Given the description of an element on the screen output the (x, y) to click on. 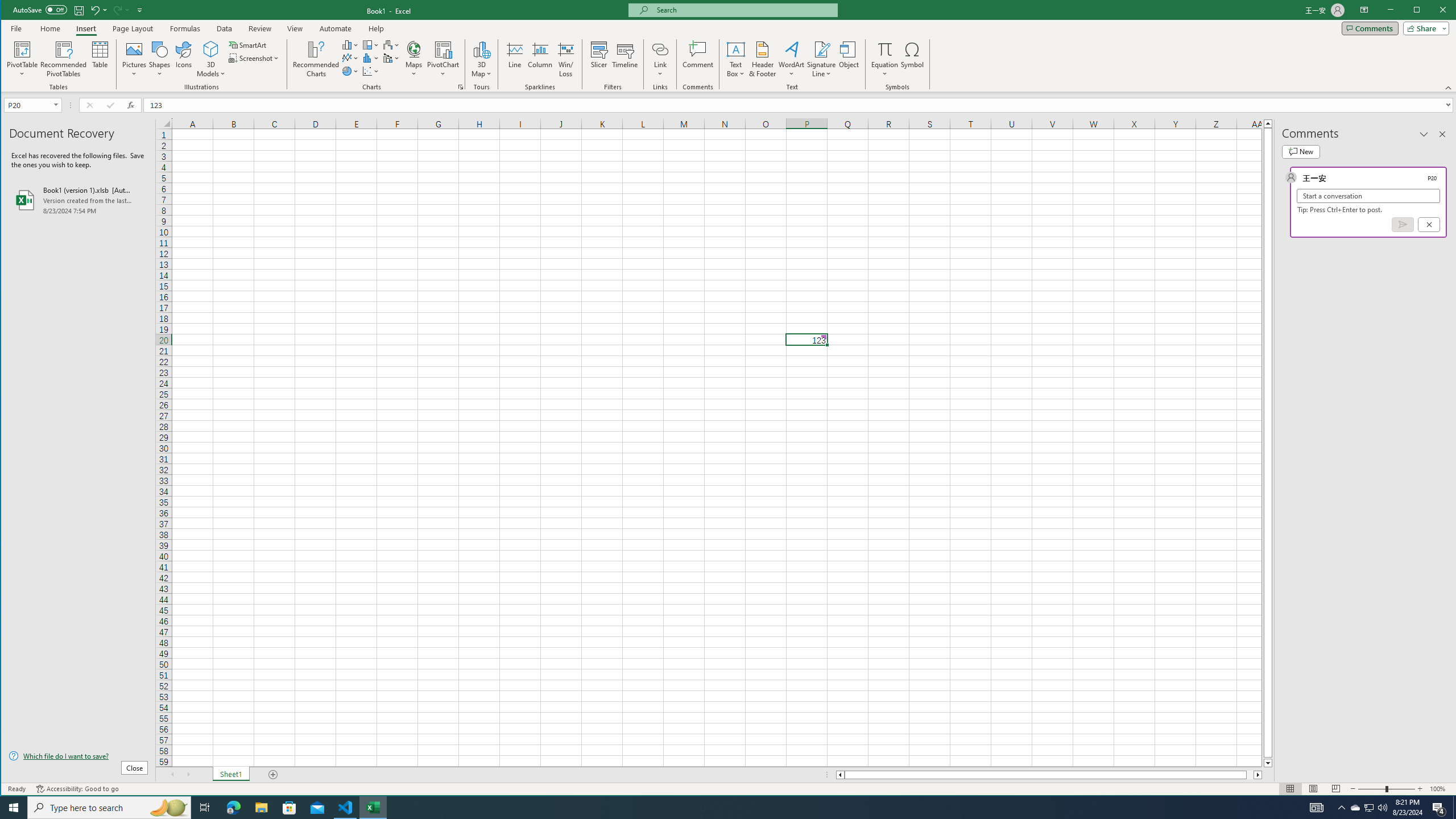
Column (540, 59)
New comment (1300, 151)
PivotTable (22, 59)
Start a conversation (1368, 195)
